Given the description of an element on the screen output the (x, y) to click on. 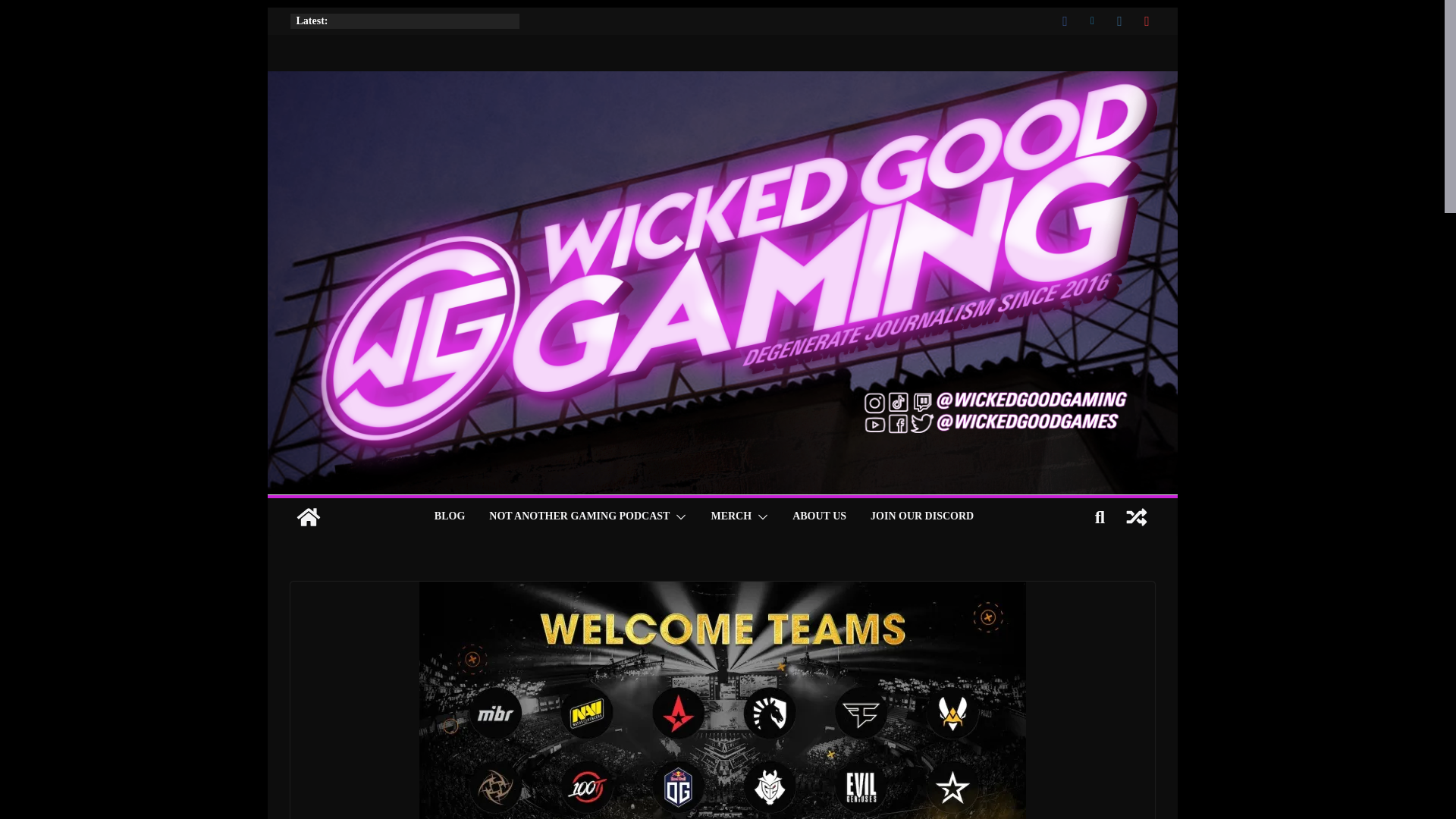
MERCH (730, 517)
Wicked Good Gaming (721, 81)
JOIN OUR DISCORD (922, 517)
View a random post (1136, 516)
BLOG (448, 517)
NOT ANOTHER GAMING PODCAST (579, 517)
Wicked Good Gaming (307, 516)
ABOUT US (818, 517)
